Given the description of an element on the screen output the (x, y) to click on. 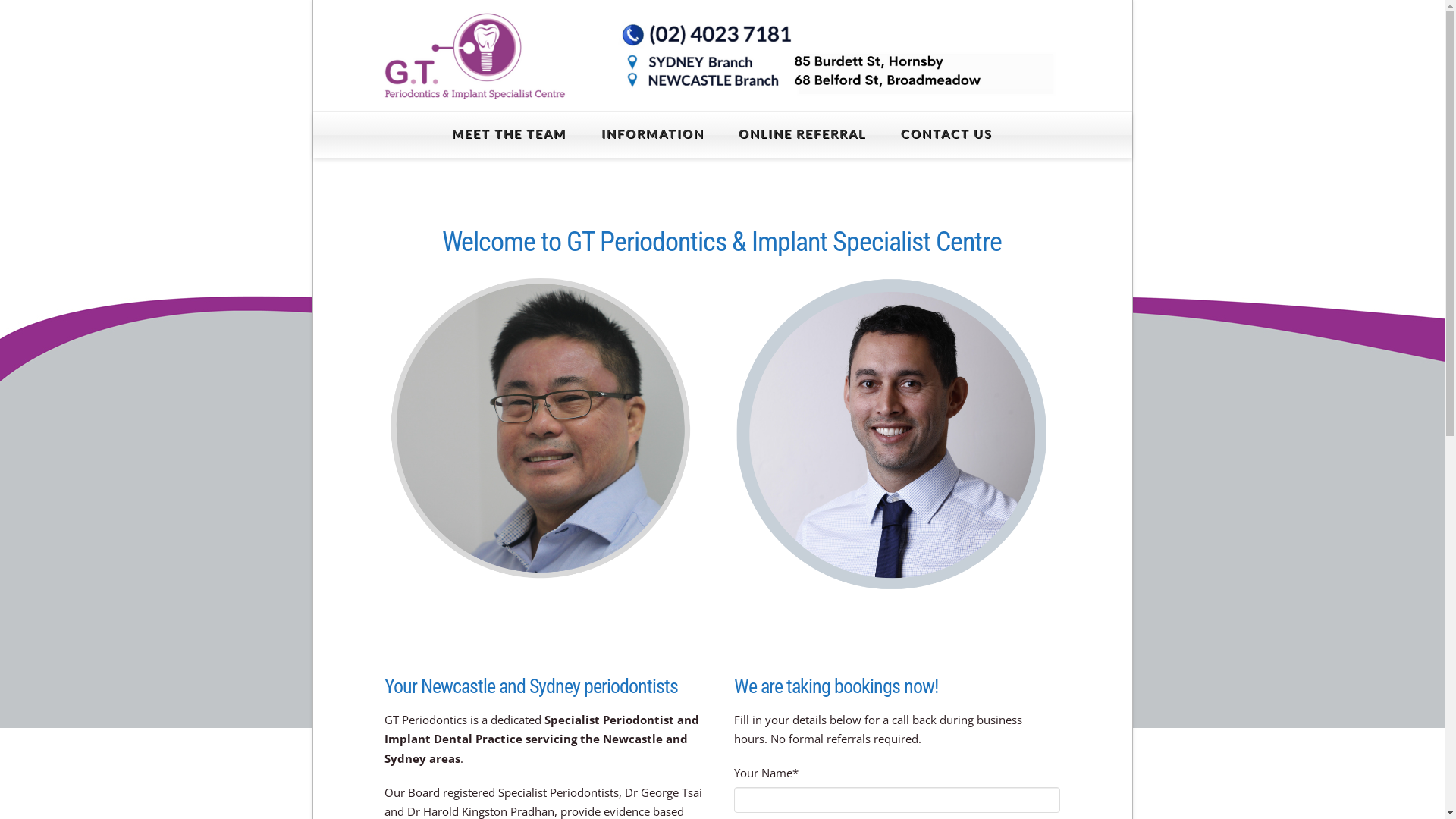
INFORMATION Element type: text (652, 134)
MEET THE TEAM Element type: text (508, 134)
ONLINE REFERRAL Element type: text (802, 134)
CONTACT US Element type: text (946, 134)
